Given the description of an element on the screen output the (x, y) to click on. 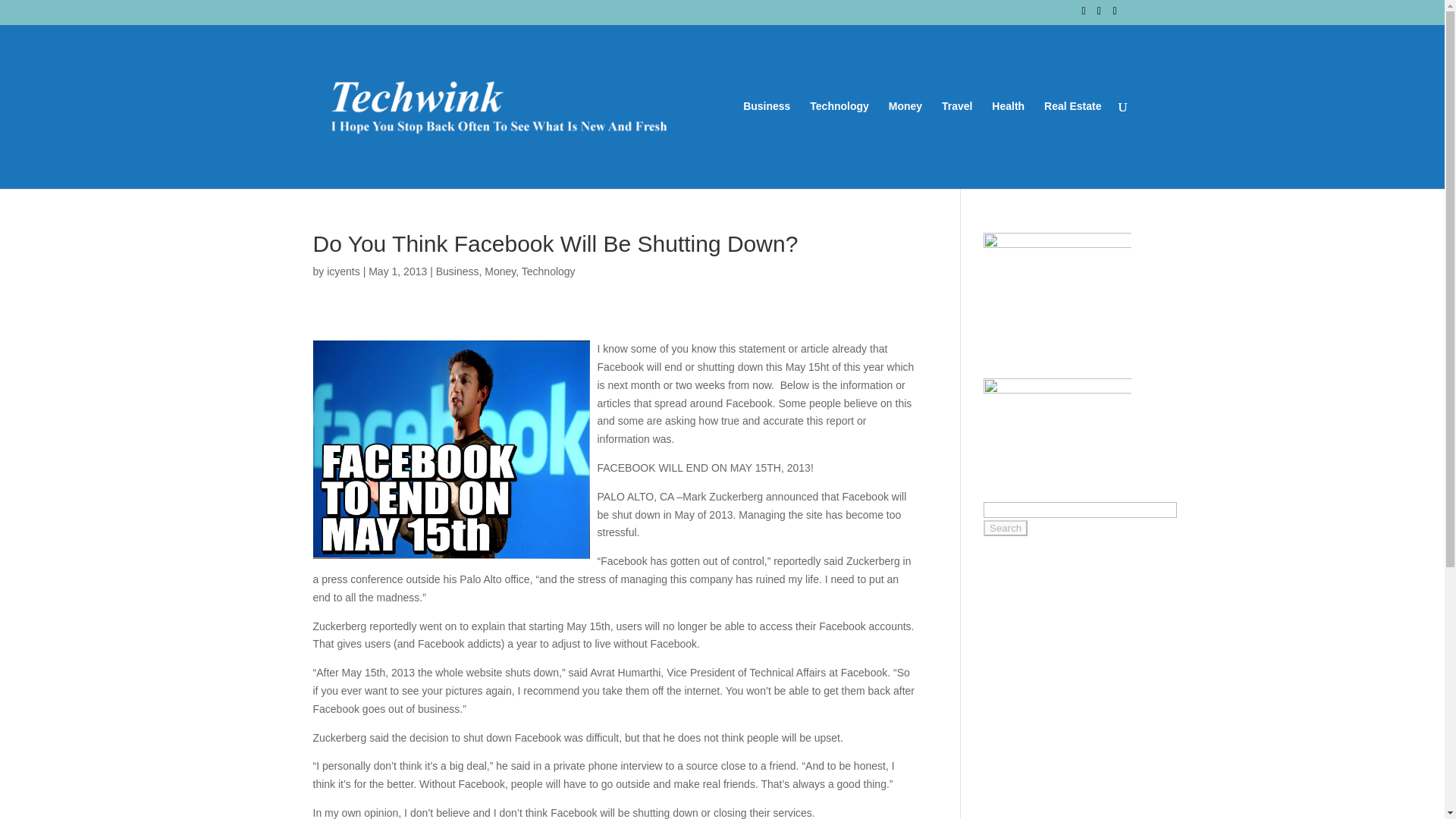
Posts by icyents (342, 271)
Money (499, 271)
Search (1005, 528)
icyents (342, 271)
Technology (548, 271)
Business (457, 271)
Search (1005, 528)
